Given the description of an element on the screen output the (x, y) to click on. 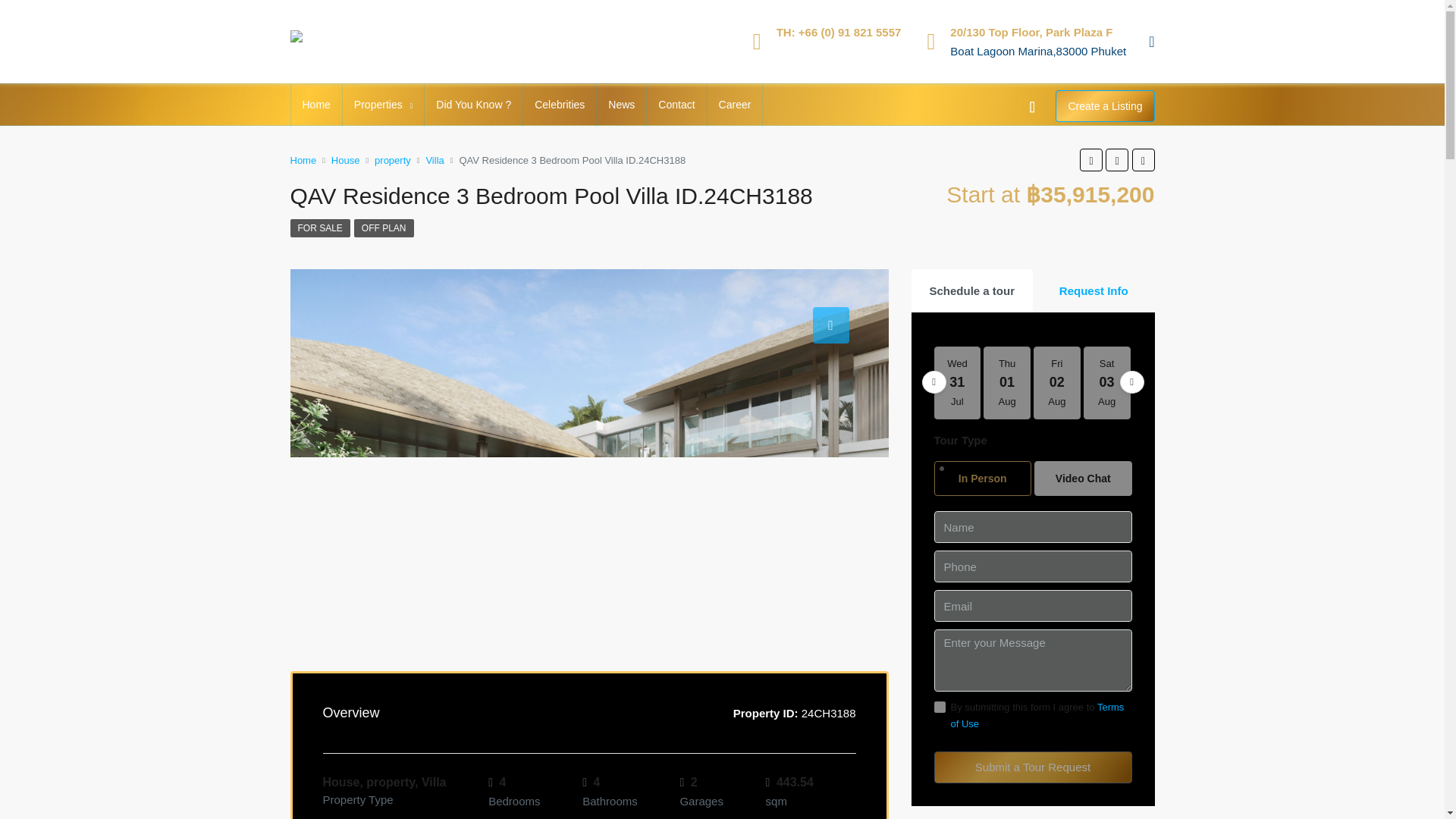
Did You Know ? (473, 104)
Career (734, 104)
Home (316, 104)
Properties (382, 105)
News (621, 104)
Create a Listing (1104, 106)
Contact (676, 104)
Celebrities (558, 104)
